Given the description of an element on the screen output the (x, y) to click on. 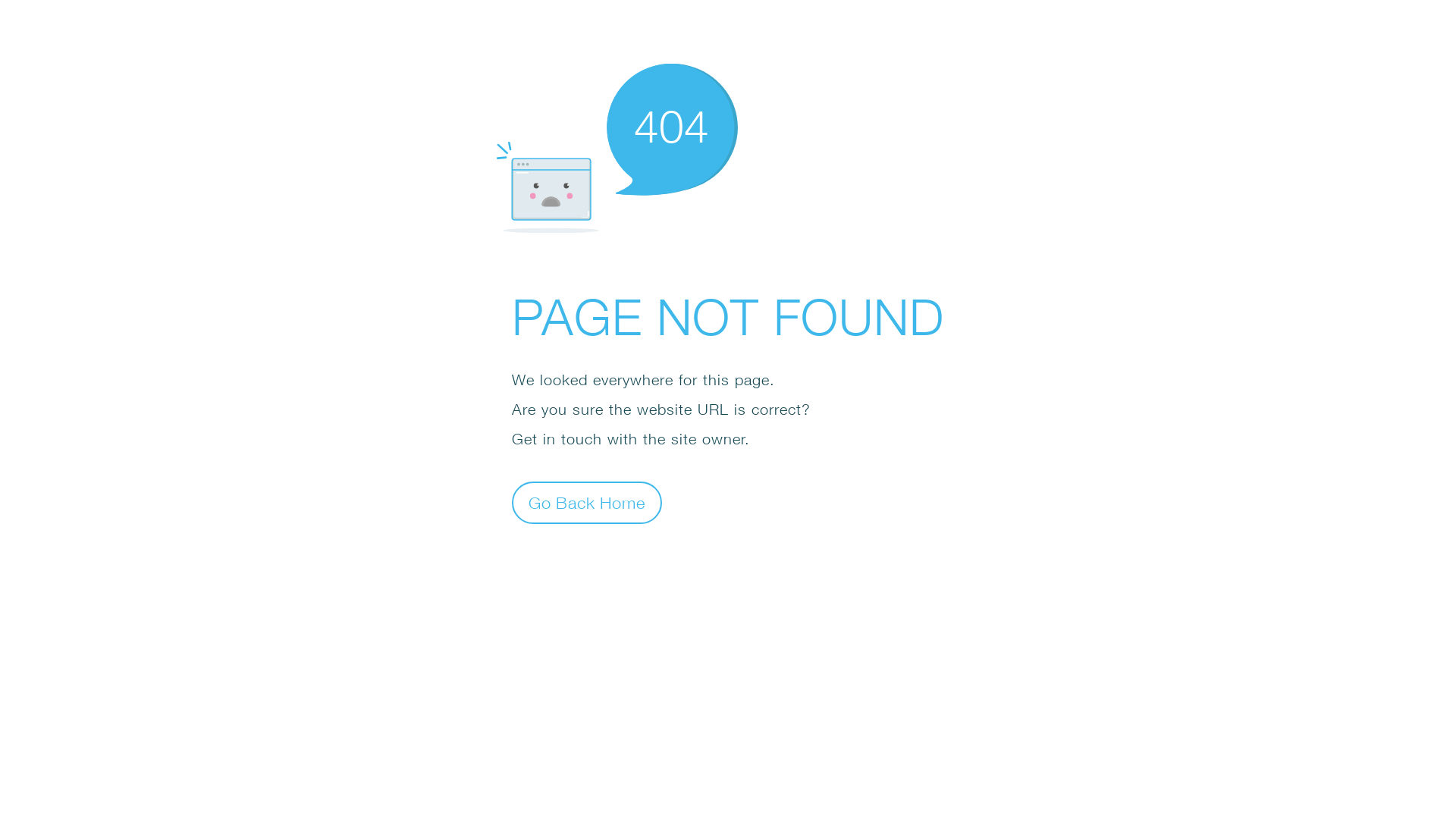
Go Back Home Element type: text (586, 502)
